Given the description of an element on the screen output the (x, y) to click on. 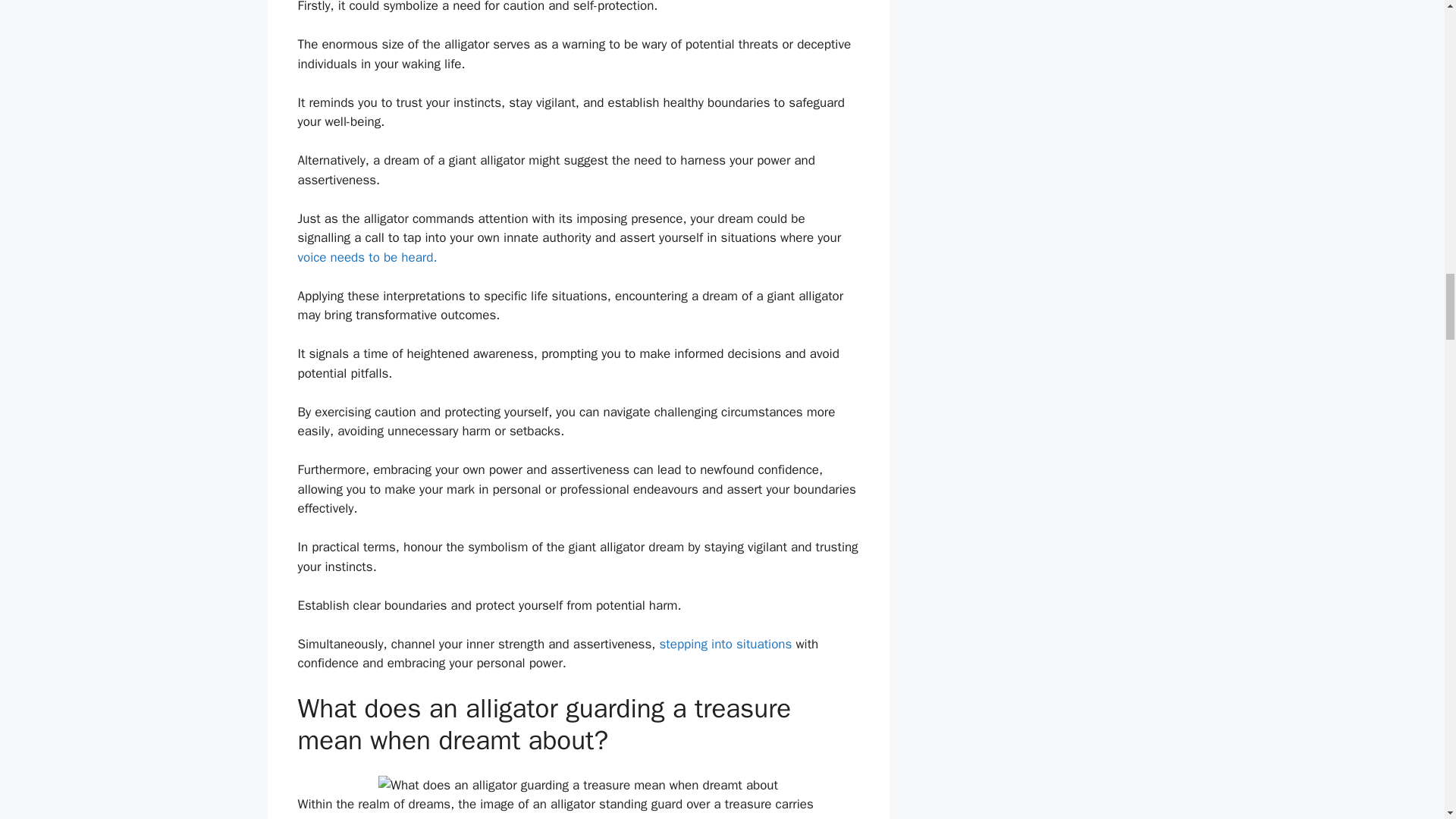
voice needs to be heard. (366, 257)
stepping into situations (725, 643)
